Given the description of an element on the screen output the (x, y) to click on. 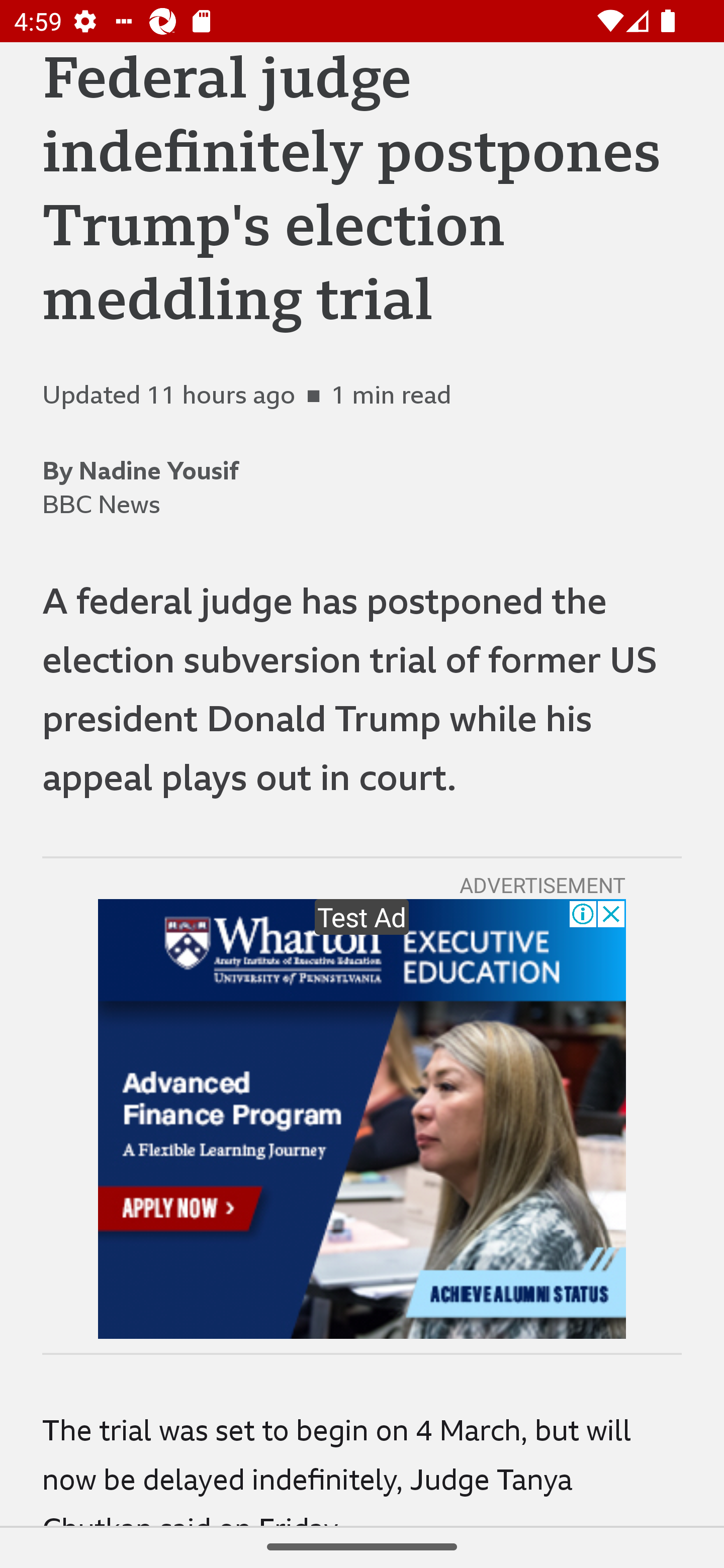
Advertisement (361, 1118)
